Given the description of an element on the screen output the (x, y) to click on. 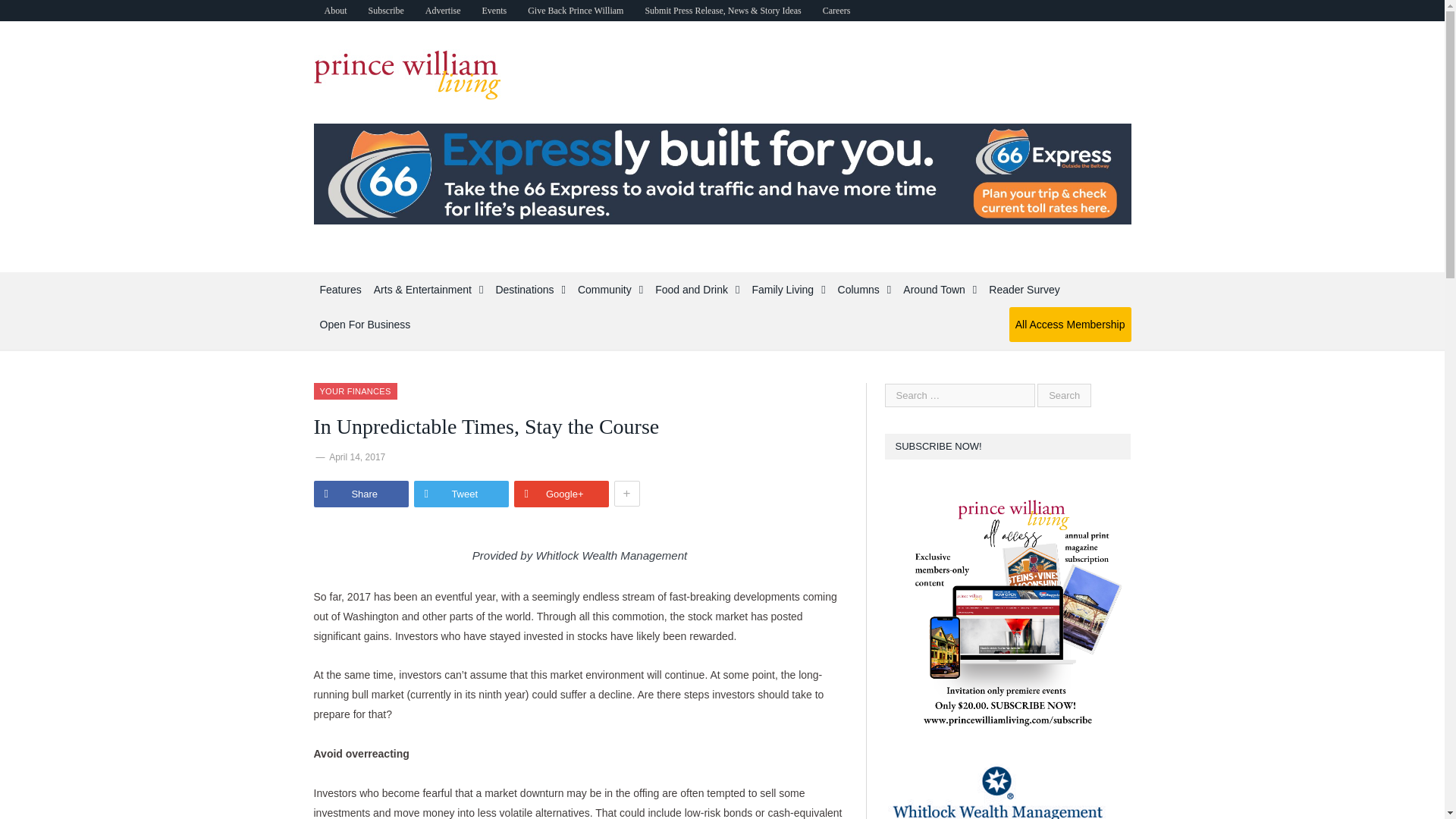
Subscribe (386, 10)
Search (1063, 395)
Local Prince William Events (493, 10)
Give Back Prince William (574, 10)
Search (1063, 395)
Events (493, 10)
Advertise (443, 10)
Prince William Living (407, 71)
About (335, 10)
Careers (836, 10)
